Given the description of an element on the screen output the (x, y) to click on. 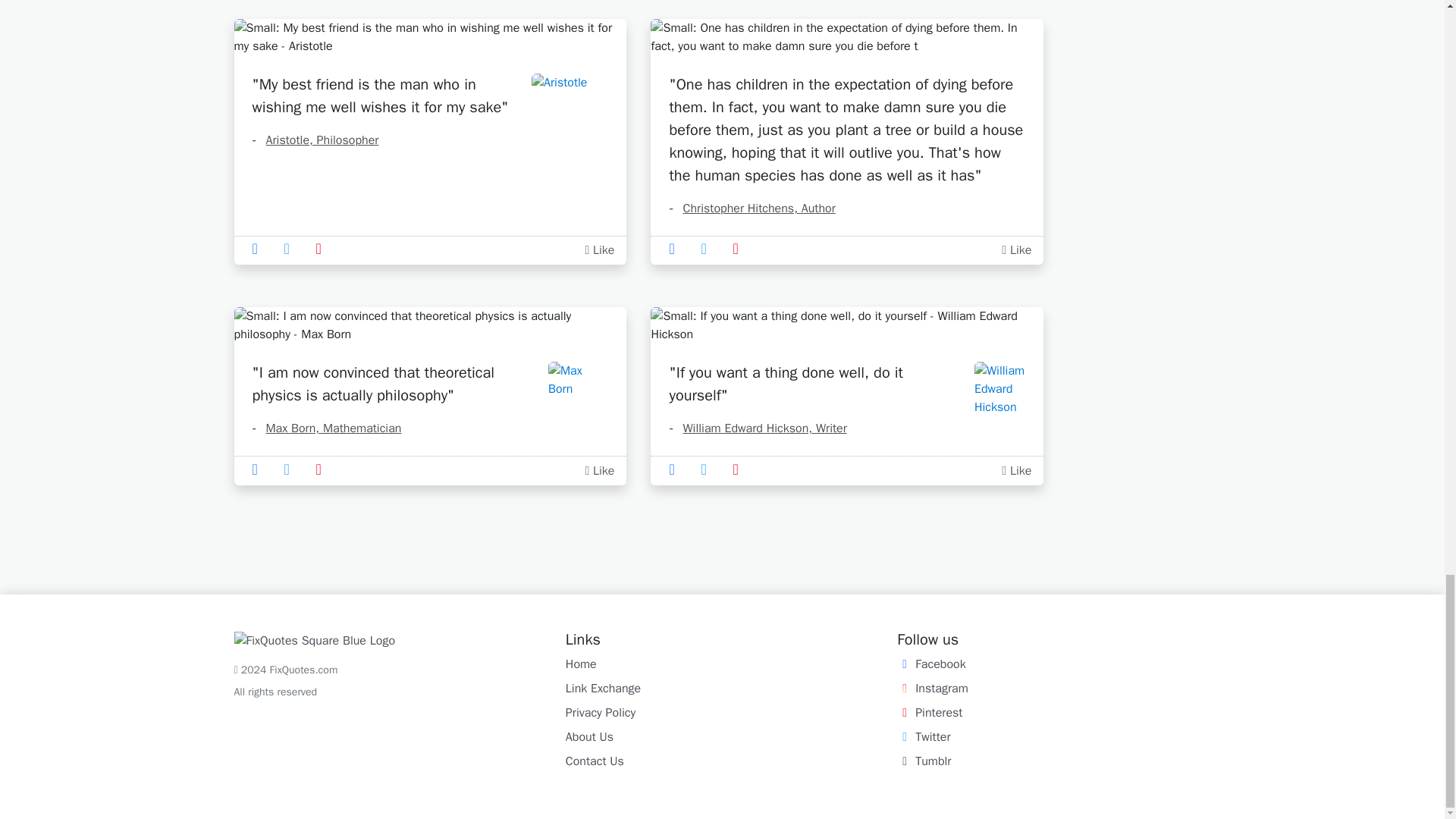
Christopher Hitchens, Author (751, 208)
Max Born, Mathematician (326, 427)
Aristotle, Philosopher (314, 140)
William Edward Hickson, Writer (756, 427)
Home (581, 663)
Link Exchange (603, 688)
